Given the description of an element on the screen output the (x, y) to click on. 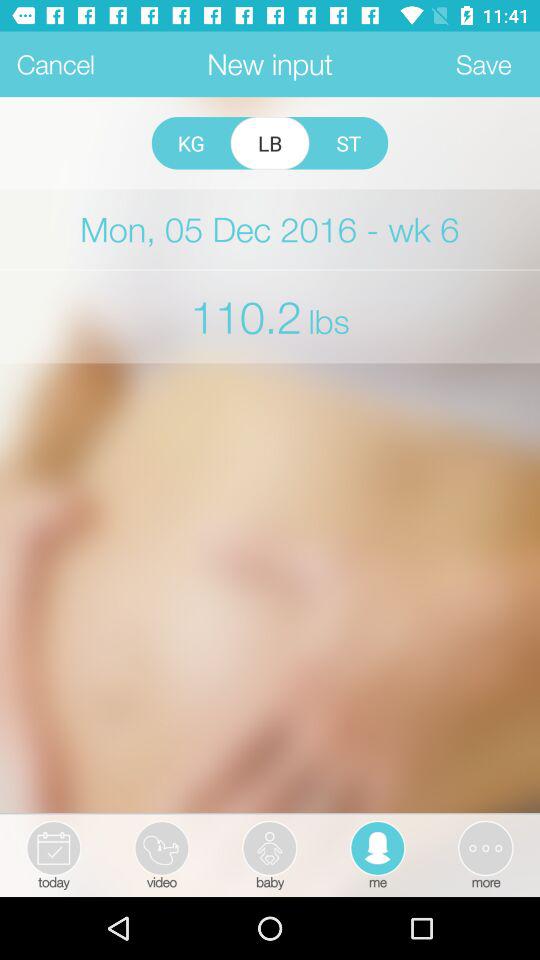
open the app above the mon 05 dec item (190, 143)
